Given the description of an element on the screen output the (x, y) to click on. 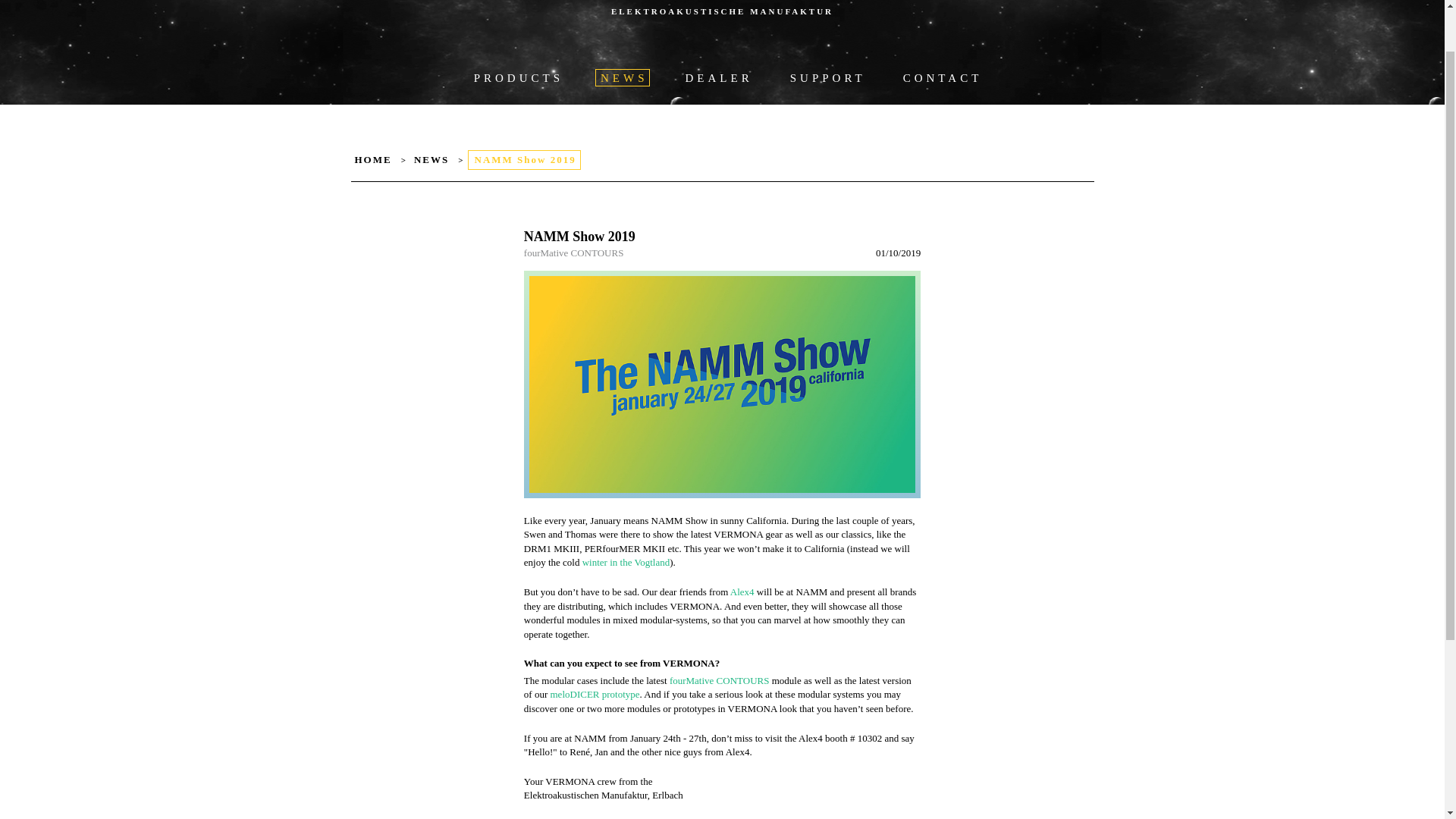
News (622, 77)
Alex4 (742, 591)
fourMative CONTOURS (719, 680)
cold snowy Vogtland winter (625, 562)
DEALER (716, 76)
CONTACT (941, 76)
fourMative CONTOURS (574, 252)
Alex4 homepage (742, 591)
winter in the Vogtland (625, 562)
NEWS (431, 159)
NEWS (622, 77)
HOME (372, 159)
meloDICER prototype (595, 694)
Products (516, 76)
PRODUCTS (516, 76)
